Given the description of an element on the screen output the (x, y) to click on. 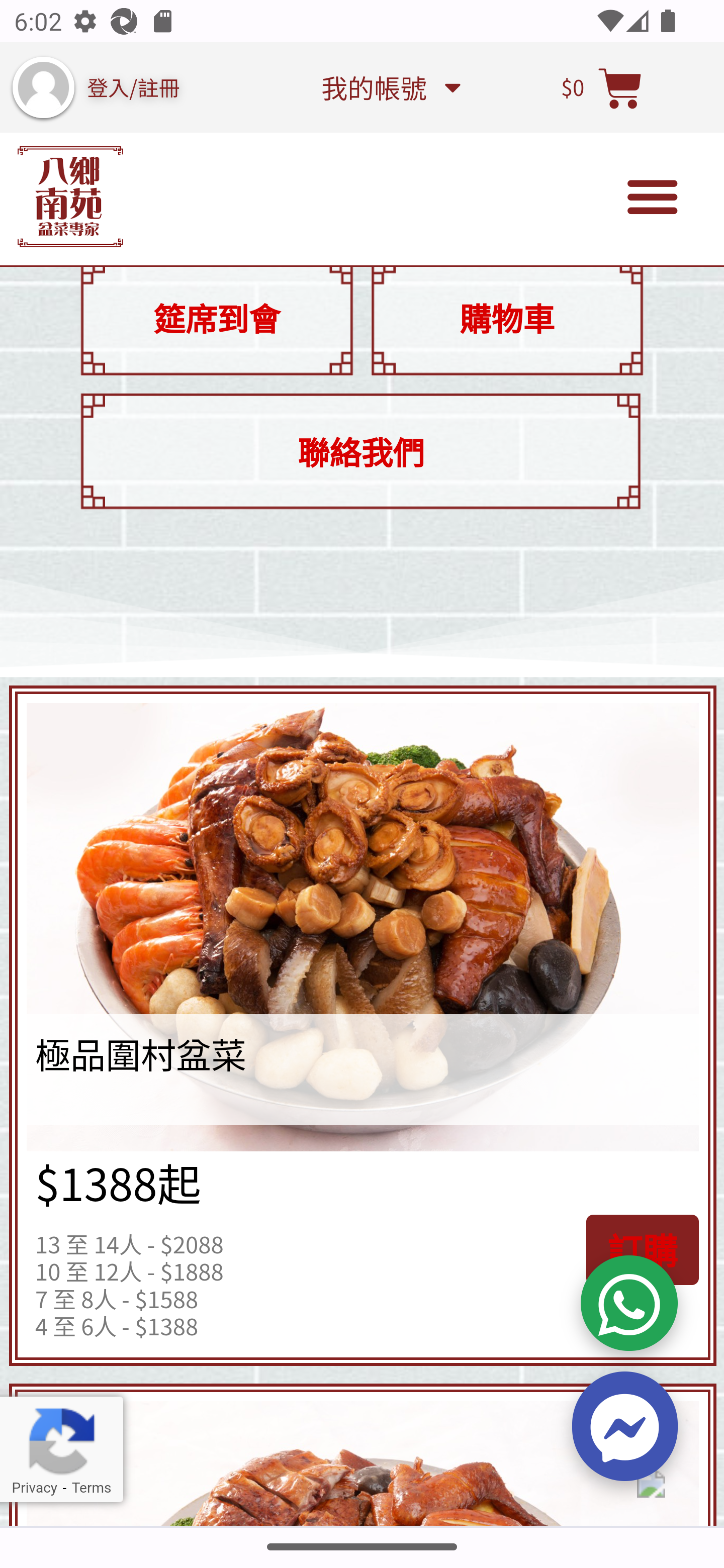
$0  購物籃 $ 0  (601, 88)
我的帳號  我的帳號  (390, 88)
my-account (43, 87)
登入/註冊 (133, 88)
www.poonchoi (70, 197)
選單切換 (652, 197)
筵席到會 (215, 318)
購物車 (506, 318)
聯絡我們 (360, 452)
訂購 (642, 1251)
